Given the description of an element on the screen output the (x, y) to click on. 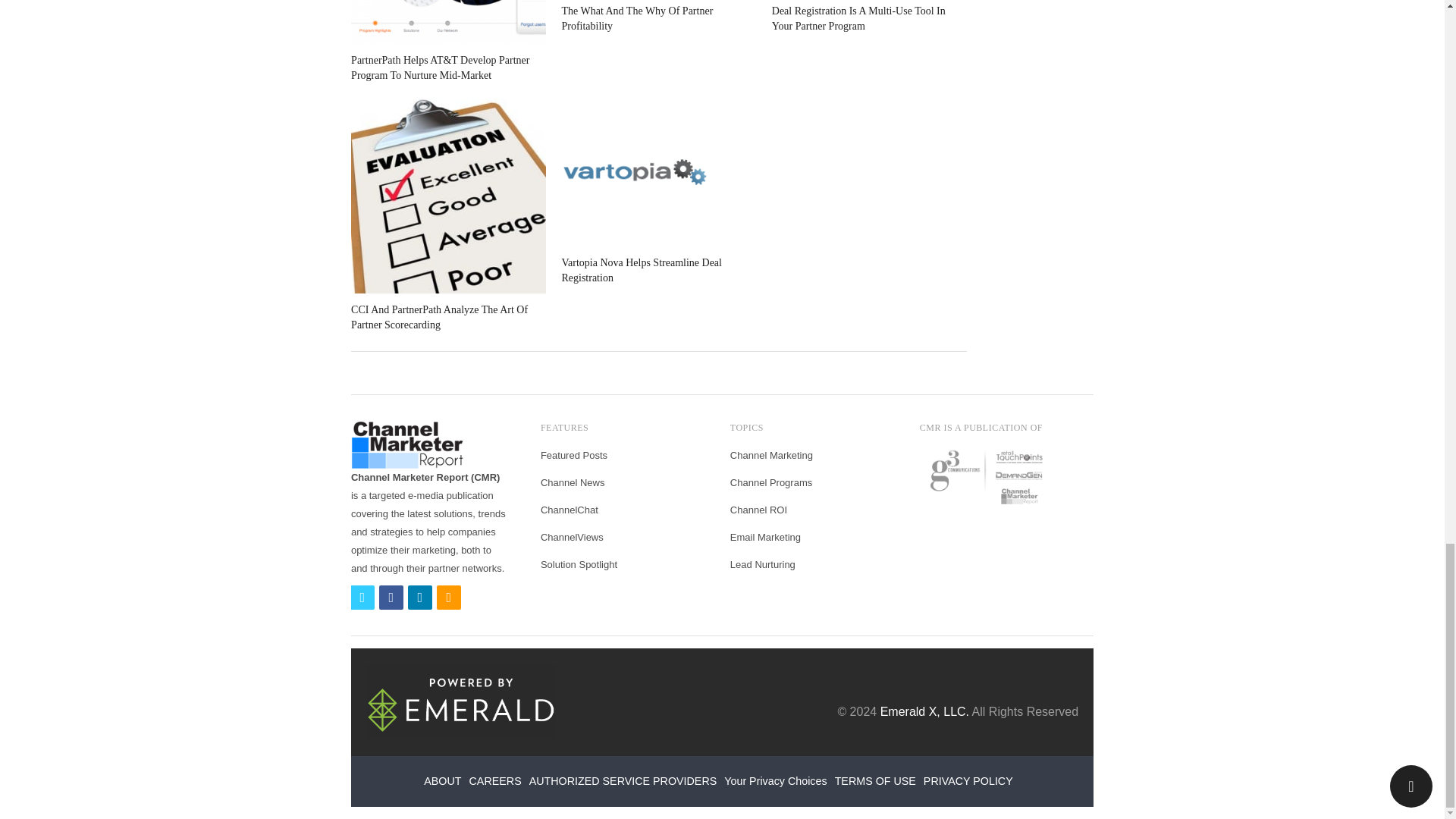
CCI And PartnerPath Analyze The Art Of Partner Scorecarding (438, 316)
Vartopia Nova Helps Streamline Deal Registration (657, 172)
CCI And PartnerPath Analyze The Art Of Partner Scorecarding (448, 195)
The What And The Why Of Partner Profitability (636, 17)
Vartopia Nova Helps Streamline Deal Registration (641, 270)
